Given the description of an element on the screen output the (x, y) to click on. 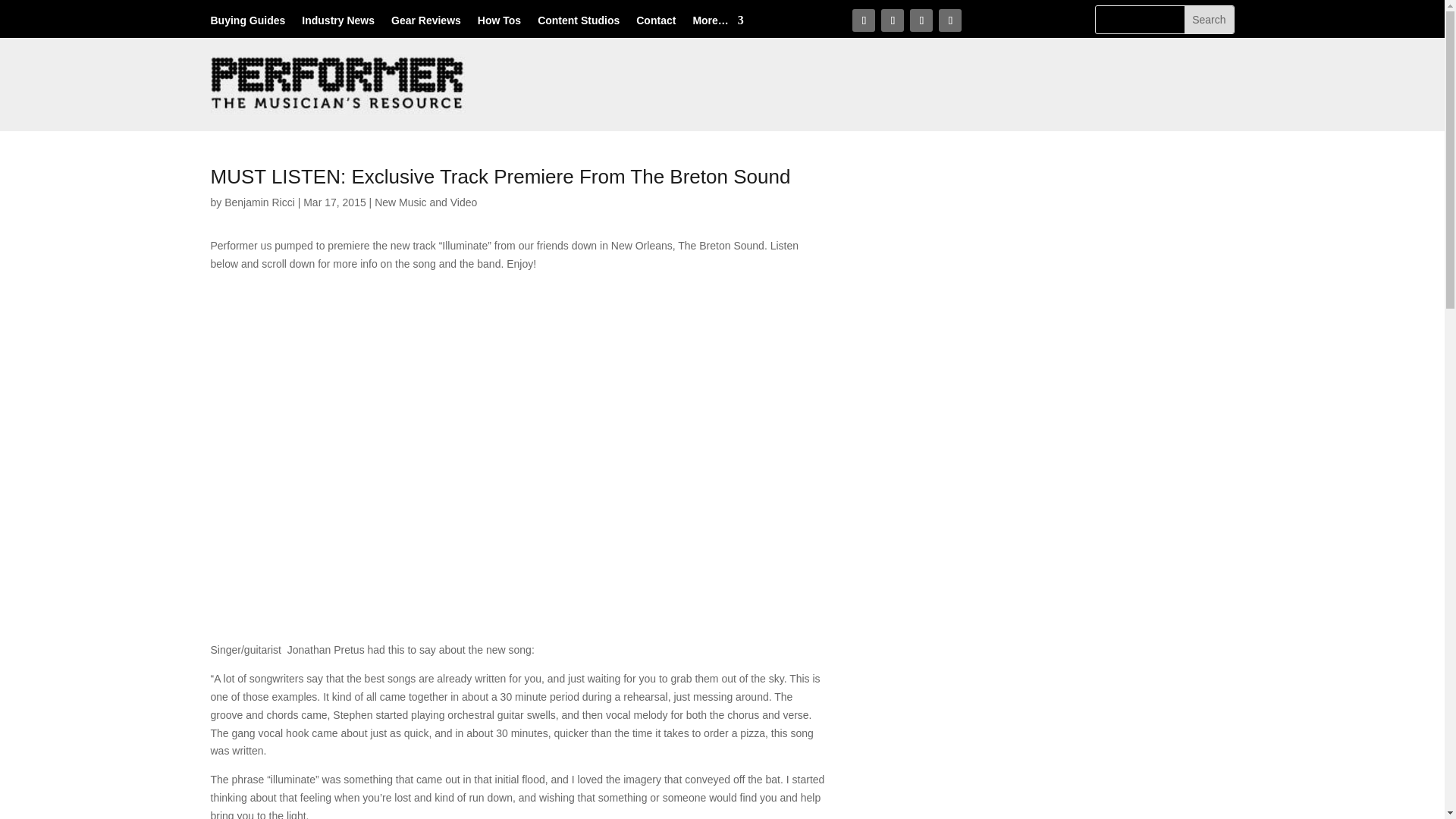
Gear Reviews (426, 23)
Search (1209, 19)
Follow on Youtube (949, 20)
Follow on Facebook (863, 20)
Search (1209, 19)
Follow on Instagram (921, 20)
Buying Guides (248, 23)
Posts by Benjamin Ricci (259, 202)
performer-logo-short (339, 84)
Follow on X (892, 20)
